Given the description of an element on the screen output the (x, y) to click on. 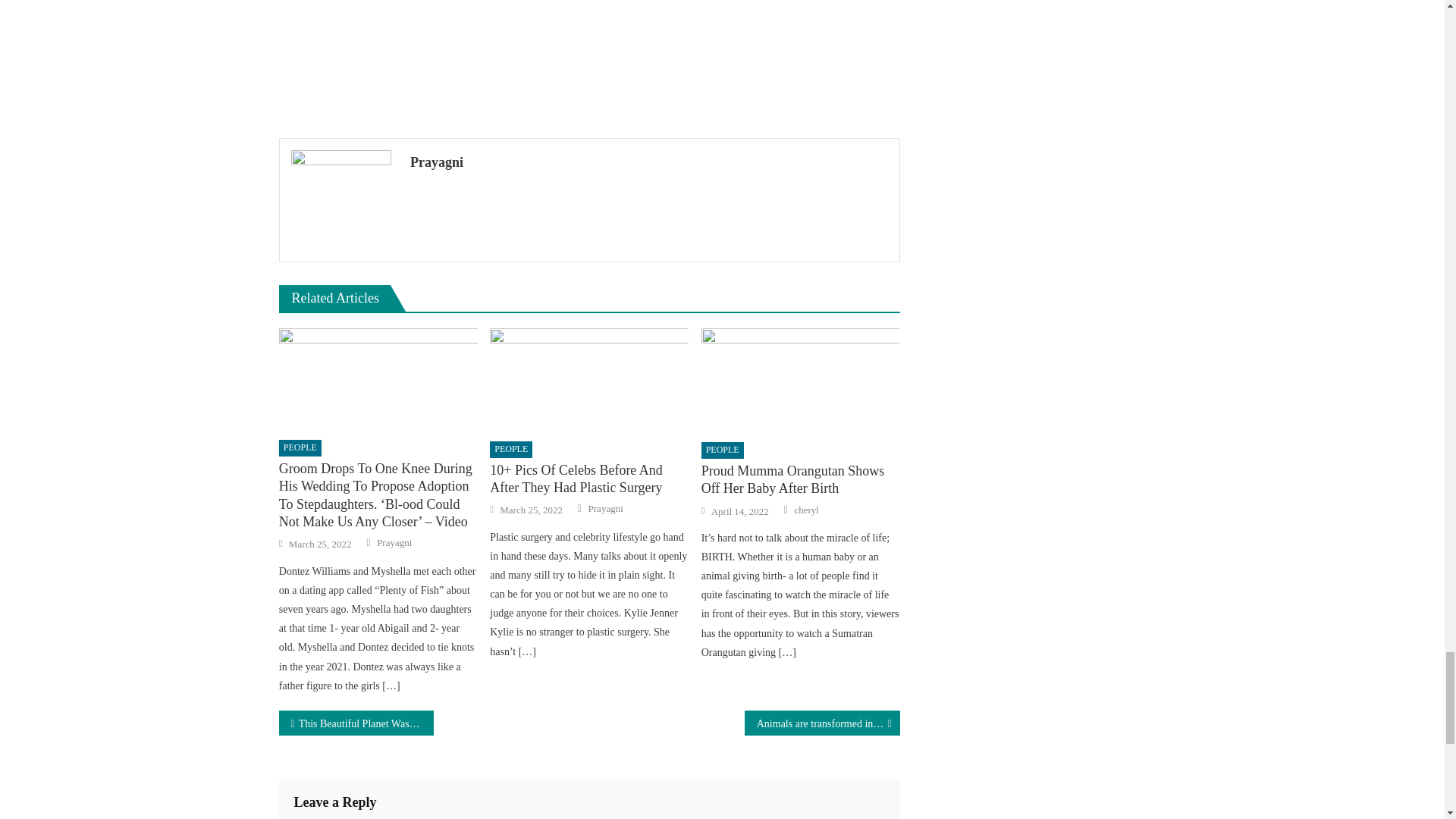
PEOPLE (722, 450)
Prayagni (605, 508)
PEOPLE (510, 449)
PEOPLE (300, 447)
Proud Mumma Orangutan Shows Off Her Baby After Birth (800, 479)
Prayagni (394, 542)
Prayagni (649, 161)
Proud Mumma Orangutan Shows Off Her Baby After Birth (800, 379)
March 25, 2022 (530, 509)
